Given the description of an element on the screen output the (x, y) to click on. 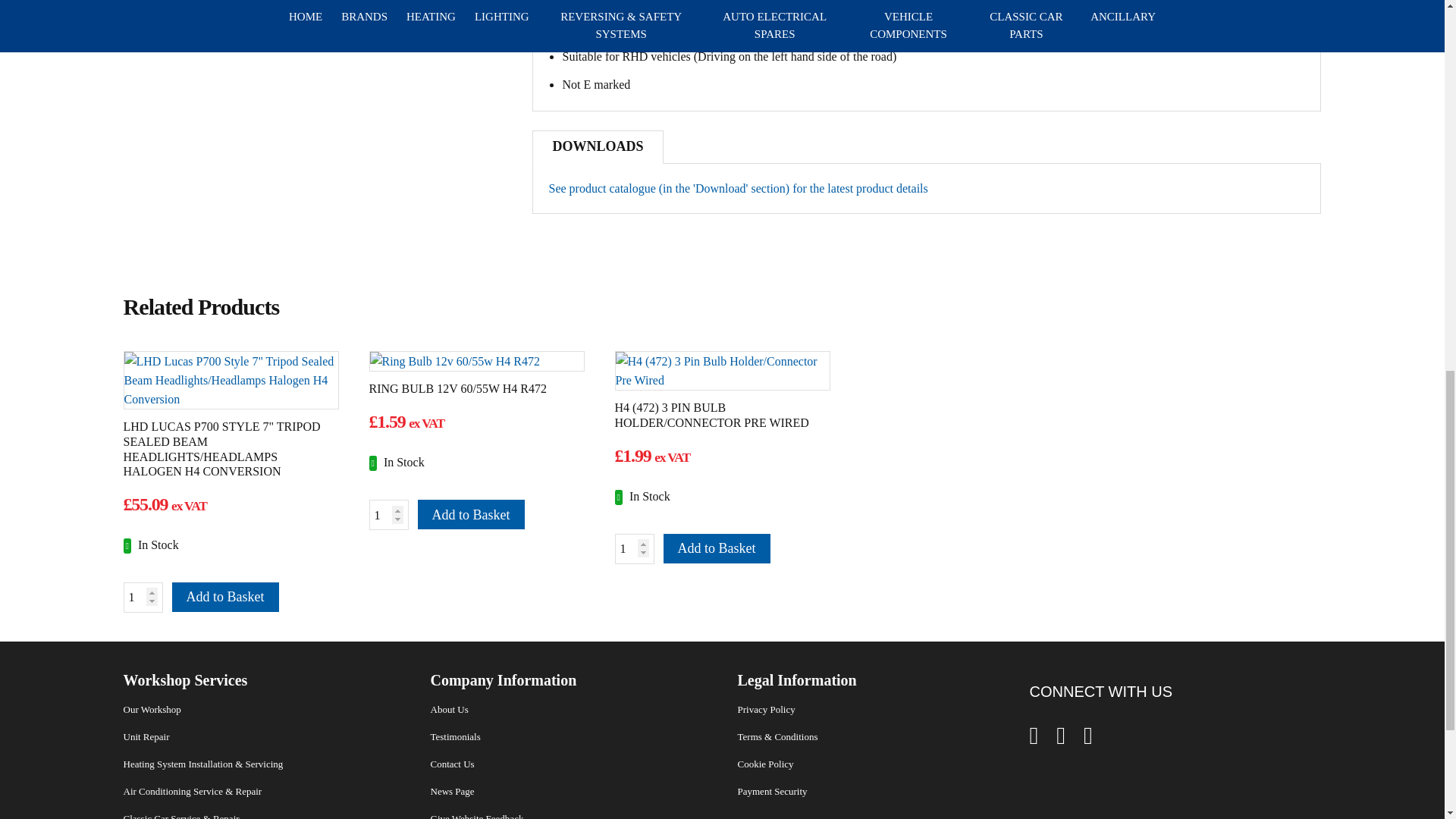
1 (387, 514)
1 (633, 548)
1 (141, 597)
